Given the description of an element on the screen output the (x, y) to click on. 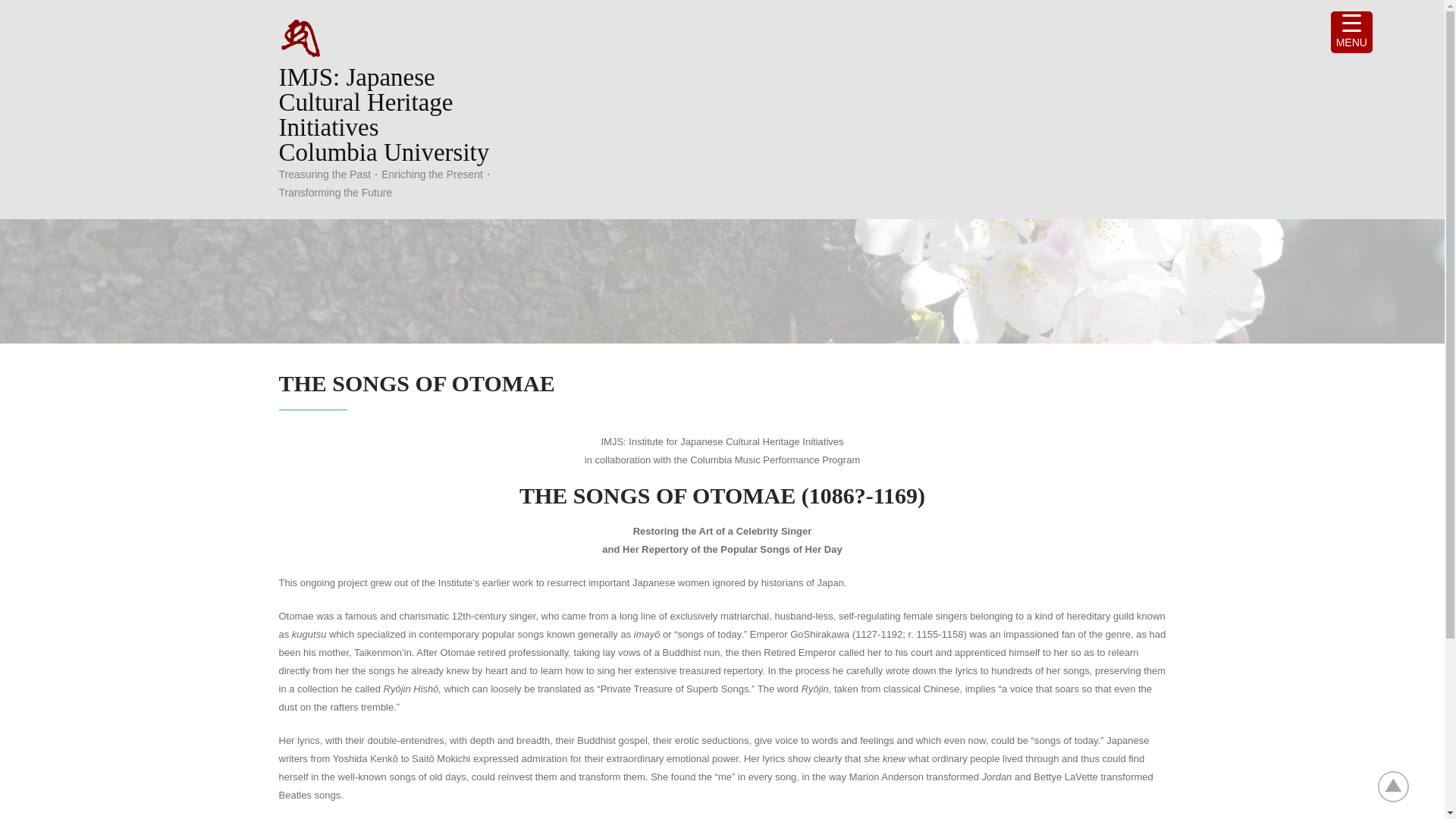
Top of Page (1401, 786)
